Given the description of an element on the screen output the (x, y) to click on. 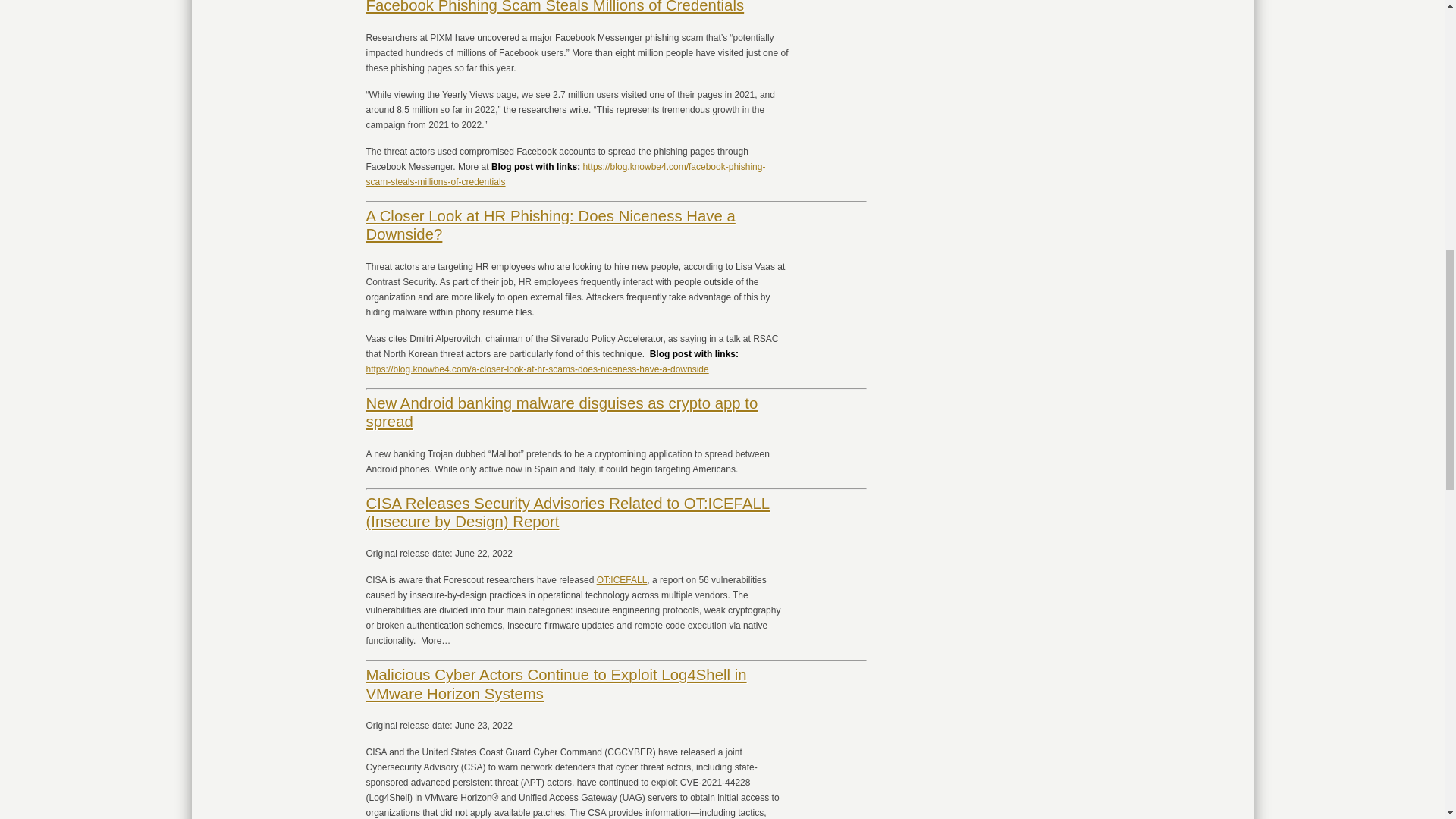
Facebook Phishing Scam Steals Millions of Credentials (554, 6)
OT:ICEFALL (621, 579)
A Closer Look at HR Phishing: Does Niceness Have a Downside? (550, 225)
